Given the description of an element on the screen output the (x, y) to click on. 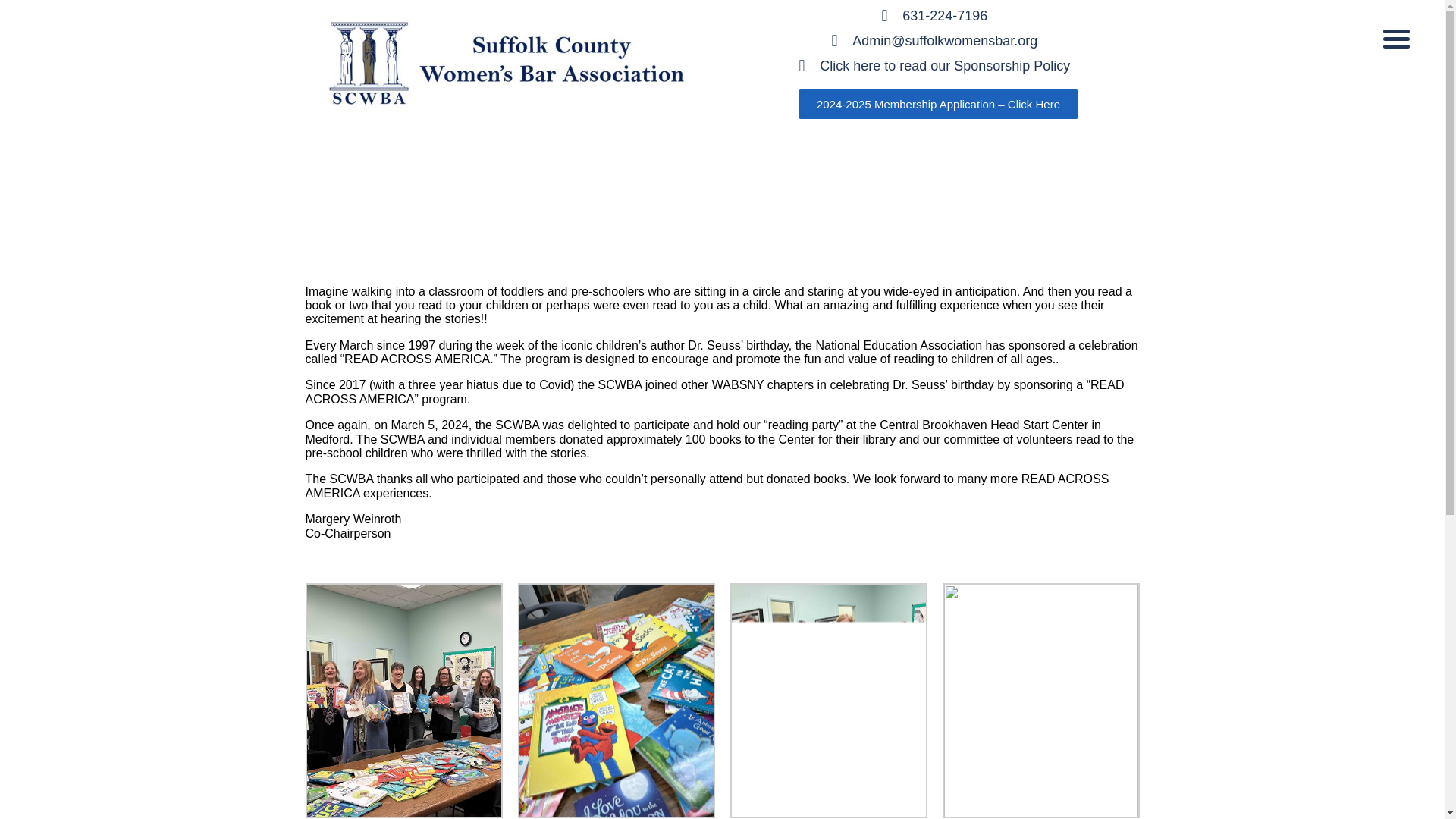
Click here to read our Sponsorship Policy (930, 65)
631-224-7196 (930, 15)
